Given the description of an element on the screen output the (x, y) to click on. 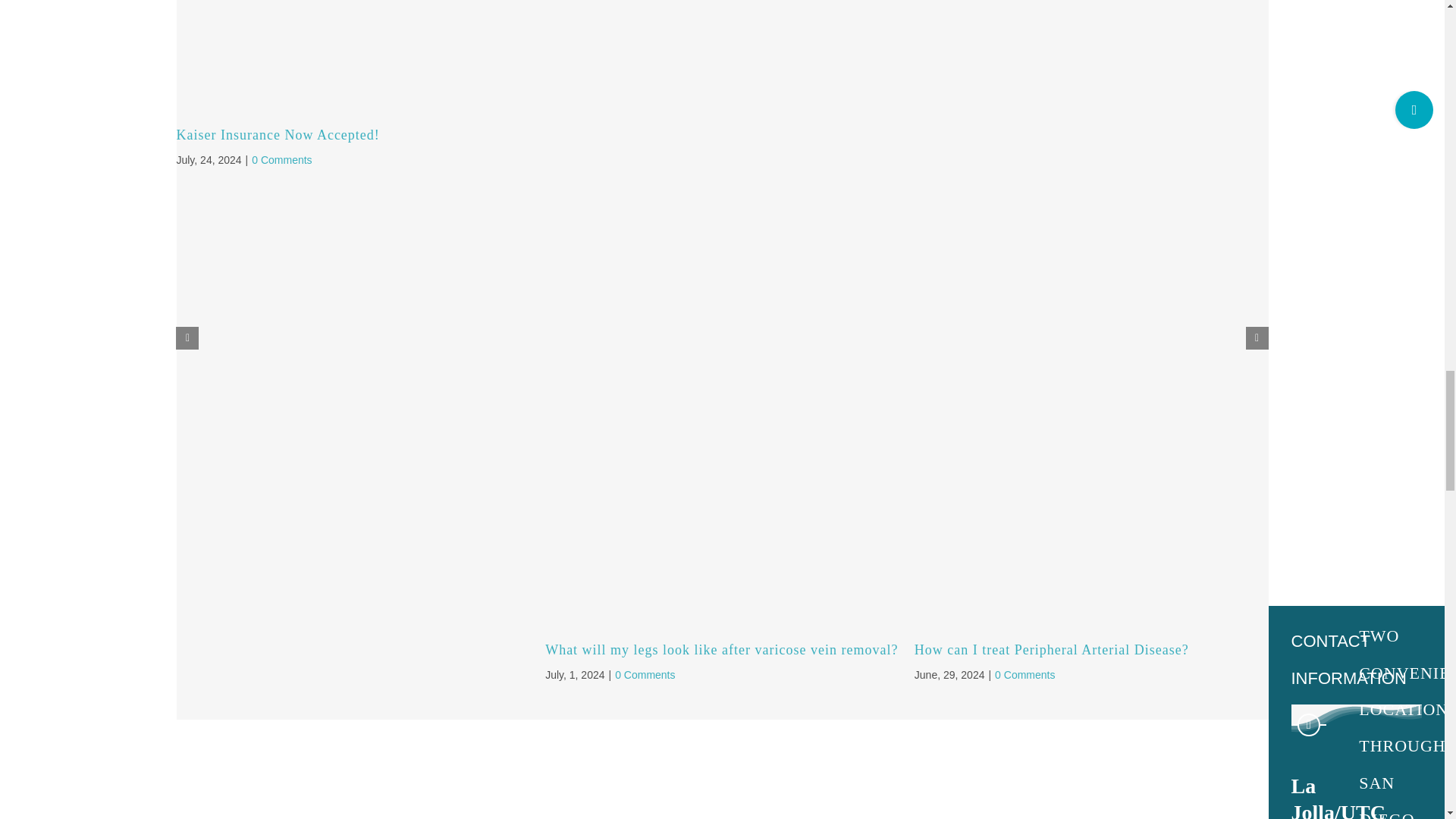
Kaiser Insurance Now Accepted! (277, 134)
What will my legs look like after varicose vein removal? (721, 649)
How can I treat Peripheral Arterial Disease? (1051, 649)
